Given the description of an element on the screen output the (x, y) to click on. 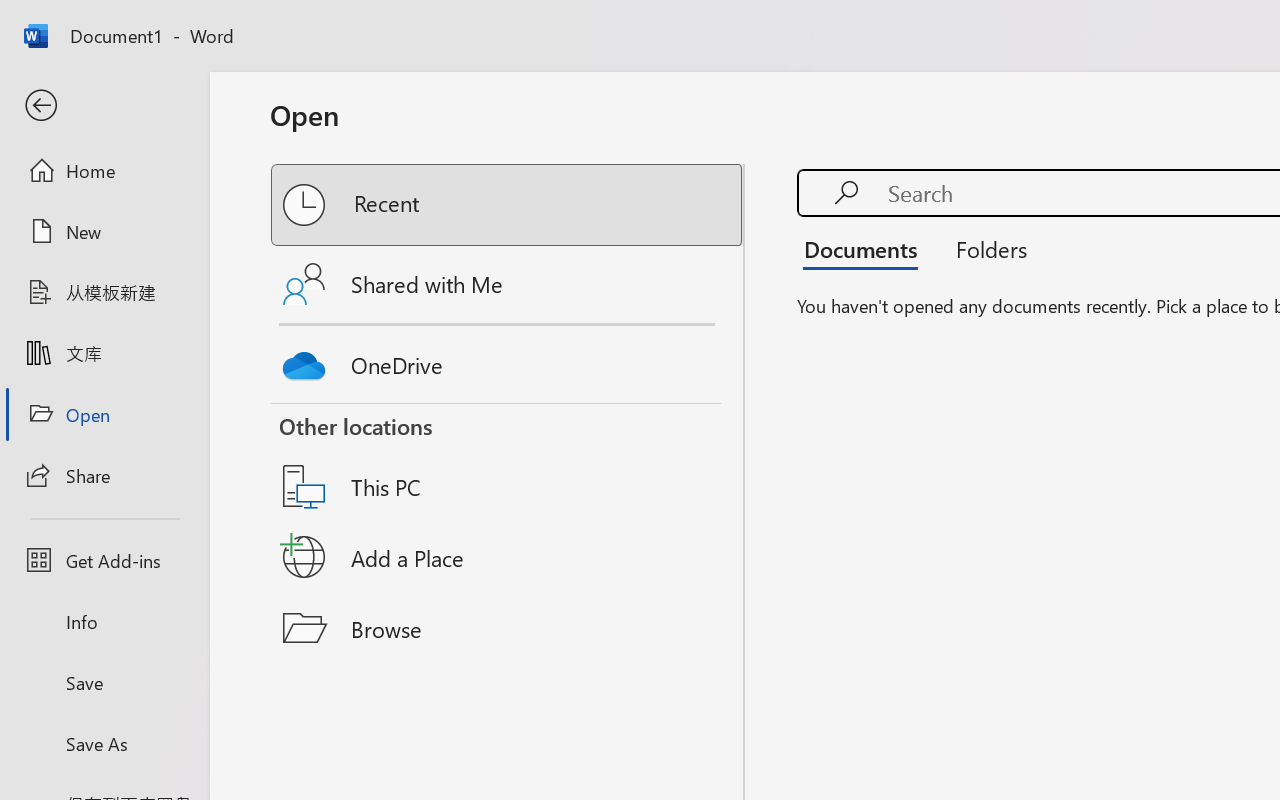
Back (104, 106)
Documents (866, 248)
Recent (507, 205)
Shared with Me (507, 283)
Get Add-ins (104, 560)
Info (104, 621)
Folders (984, 248)
Save As (104, 743)
Add a Place (507, 557)
